Given the description of an element on the screen output the (x, y) to click on. 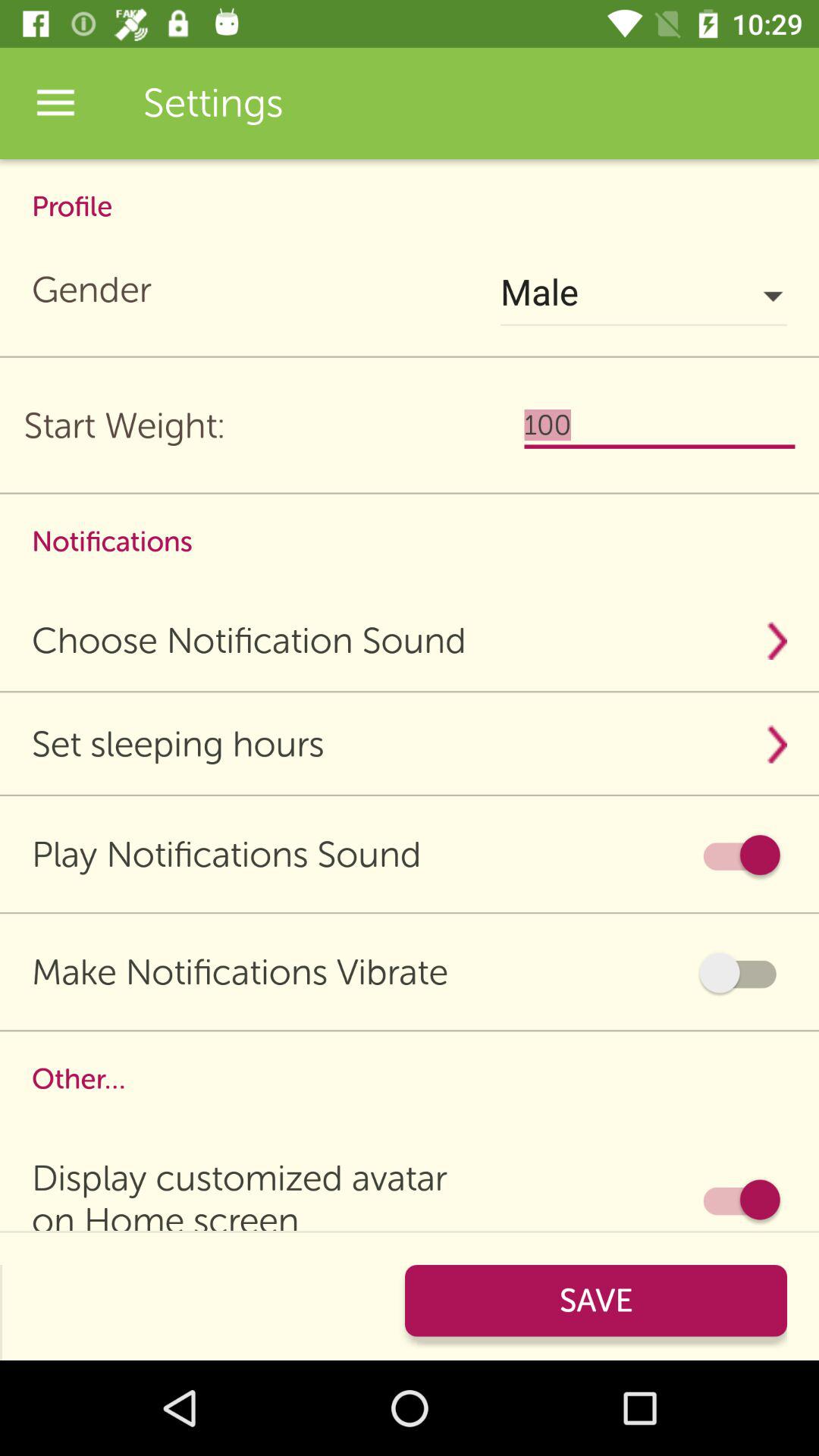
select the item below the male icon (659, 425)
